Given the description of an element on the screen output the (x, y) to click on. 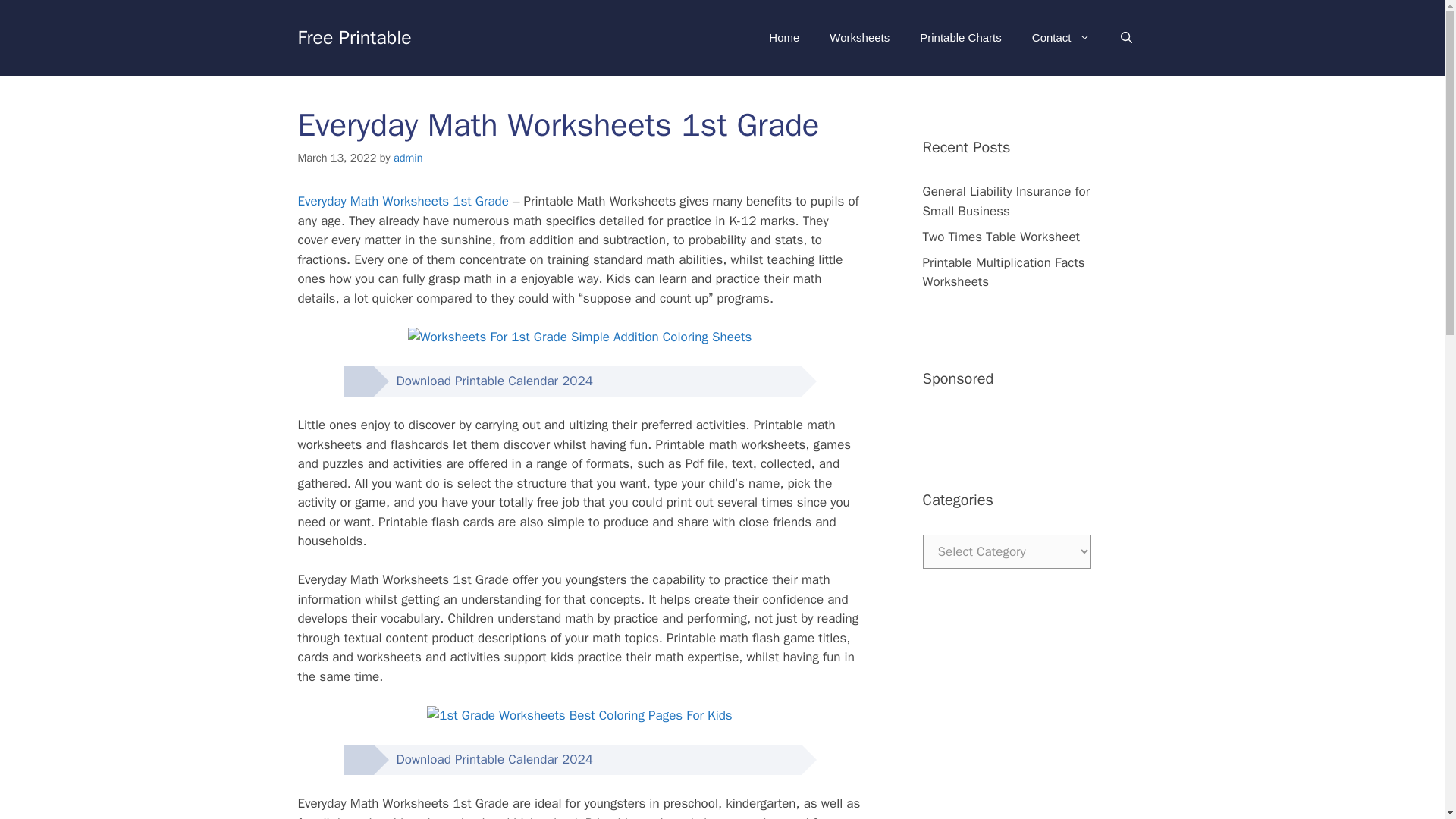
Printable Multiplication Facts Worksheets (1002, 272)
Worksheets (858, 37)
admin (408, 157)
Two Times Table Worksheet (1000, 236)
View all posts by admin (408, 157)
Everyday Math Worksheets 1st Grade (402, 201)
Download Printable Calendar 2024 (482, 759)
General Liability Insurance for Small Business (1005, 201)
Home (783, 37)
Printable Charts (960, 37)
Download Printable Calendar 2024 (482, 381)
Free Printable (353, 37)
Contact (1060, 37)
